Given the description of an element on the screen output the (x, y) to click on. 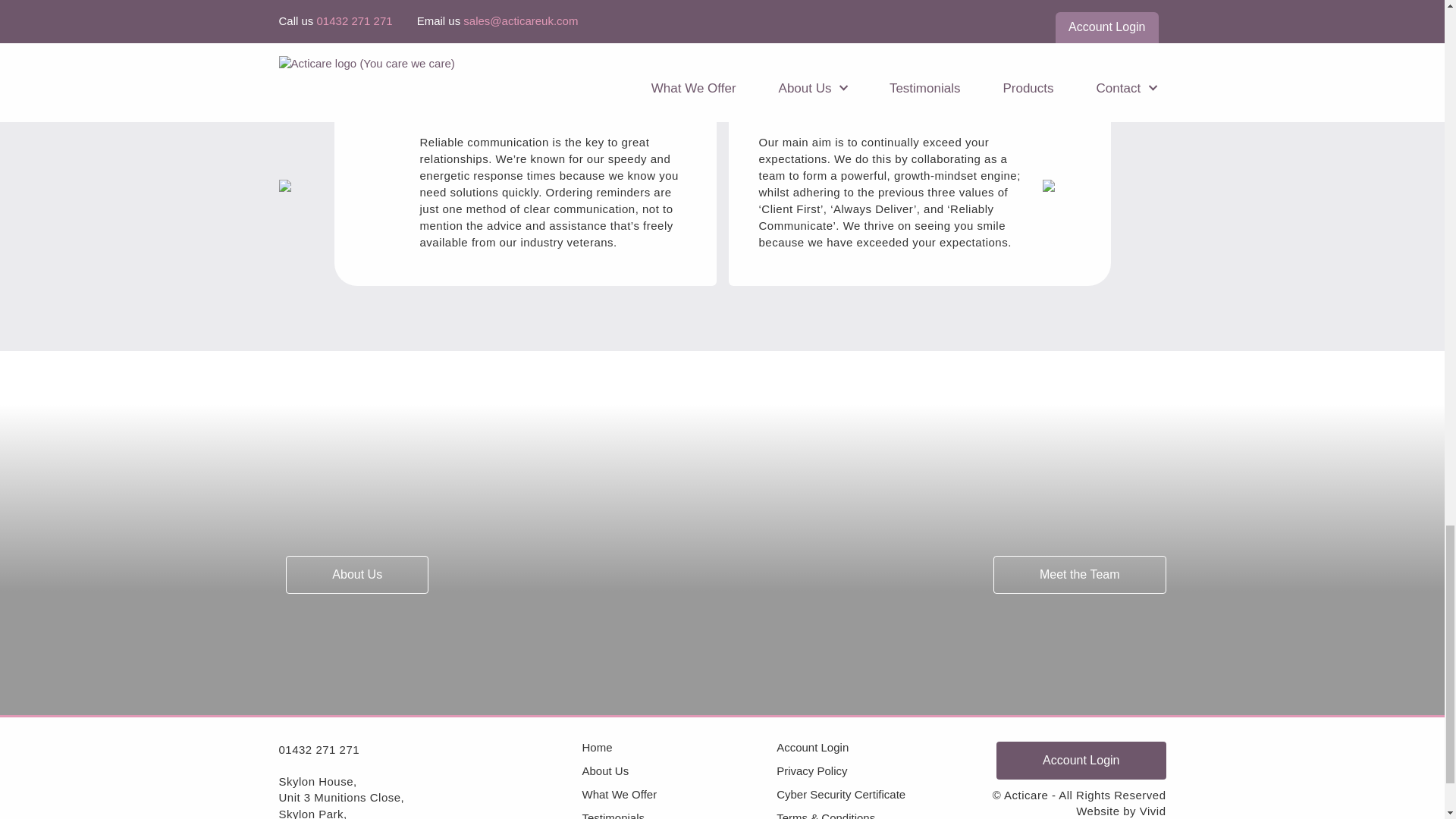
About Us (679, 770)
What We Offer (679, 794)
Testimonials (679, 815)
Home (679, 747)
01432 271 271 (319, 748)
Privacy Policy (873, 770)
Find out more about Vivid (1153, 810)
Cyber Security Certificate (873, 794)
Account Login (873, 747)
Call us (319, 748)
